Given the description of an element on the screen output the (x, y) to click on. 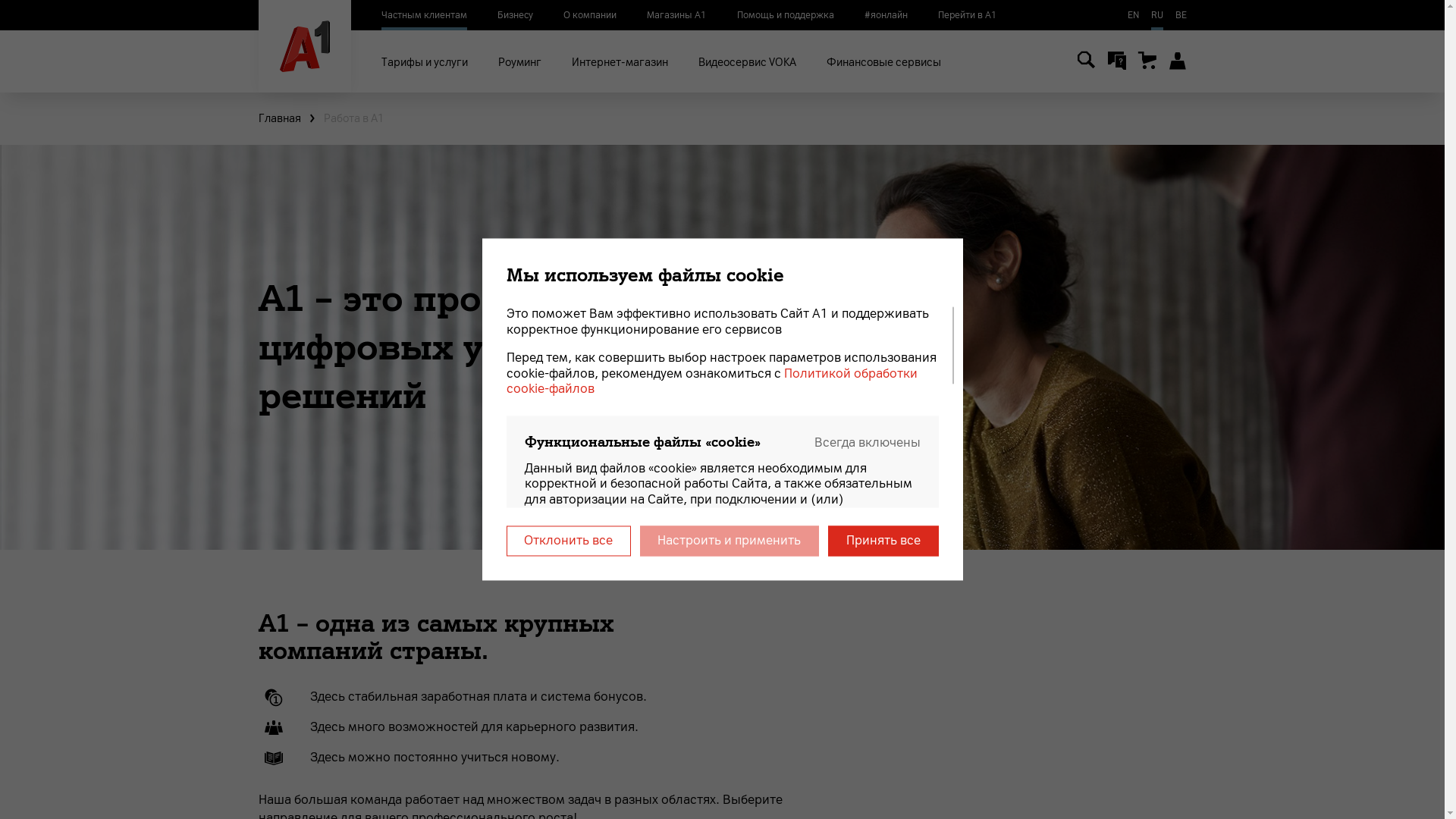
BE Element type: text (1180, 15)
EN Element type: text (1132, 15)
RU Element type: text (1157, 15)
